Given the description of an element on the screen output the (x, y) to click on. 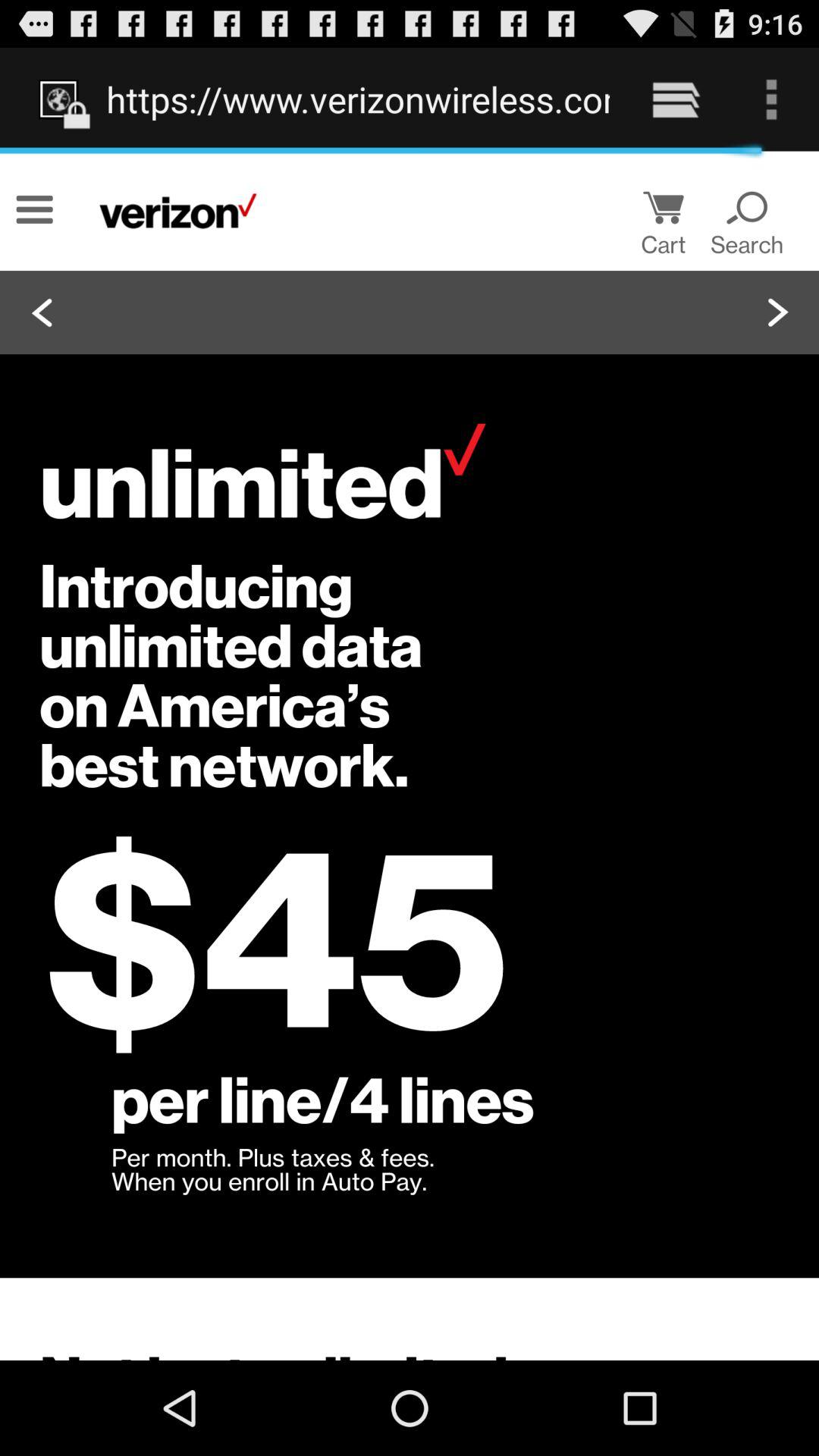
open https www verizonwireless item (357, 99)
